Given the description of an element on the screen output the (x, y) to click on. 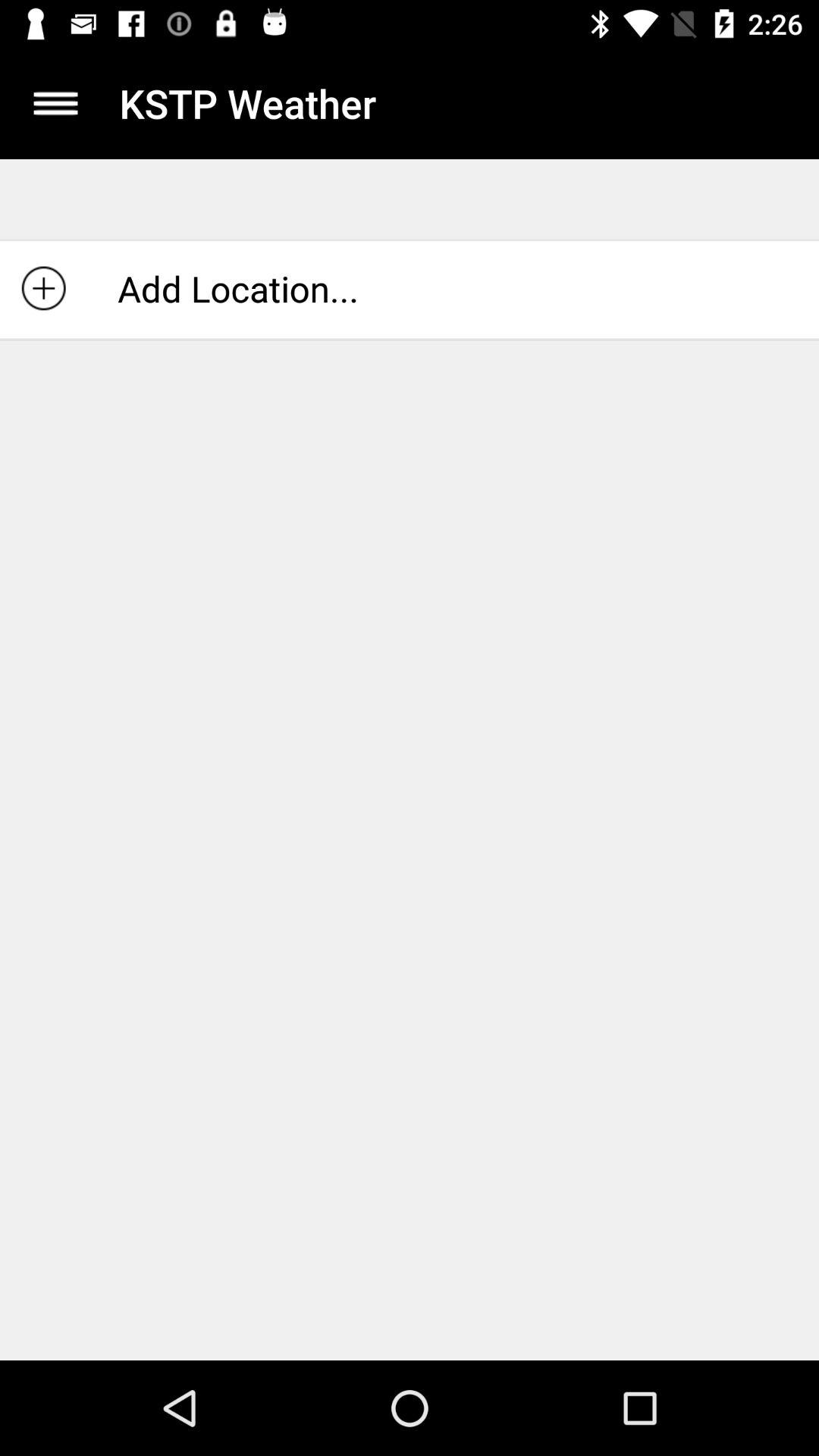
main menu (55, 103)
